Given the description of an element on the screen output the (x, y) to click on. 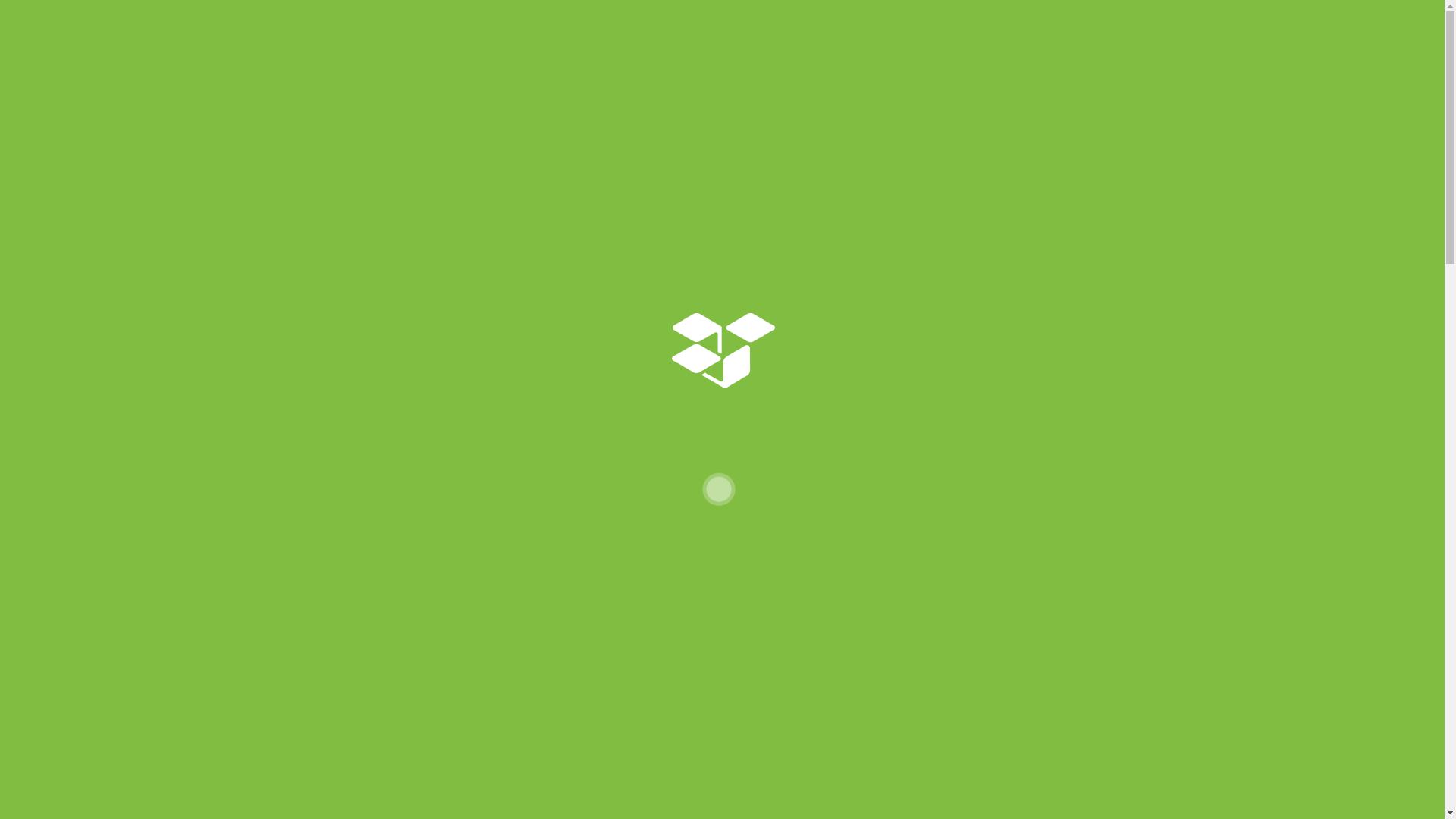
about Element type: text (984, 79)
face masks Element type: text (906, 79)
Organic Dry Cleaners Element type: hover (475, 79)
pricing Element type: text (823, 79)
HOME Element type: text (819, 204)
ADD TO CART Element type: text (908, 695)
contact us Element type: text (1062, 79)
ladies-black-mask-aus-made_edited Element type: hover (483, 496)
services Element type: text (750, 79)
SHOP Element type: text (856, 204)
0 Element type: text (1132, 79)
customercare@laundrybox.com.au Element type: text (522, 13)
organic dry cleaning Element type: text (638, 79)
Clear Element type: text (710, 659)
Face Mask Element type: text (831, 750)
